Given the description of an element on the screen output the (x, y) to click on. 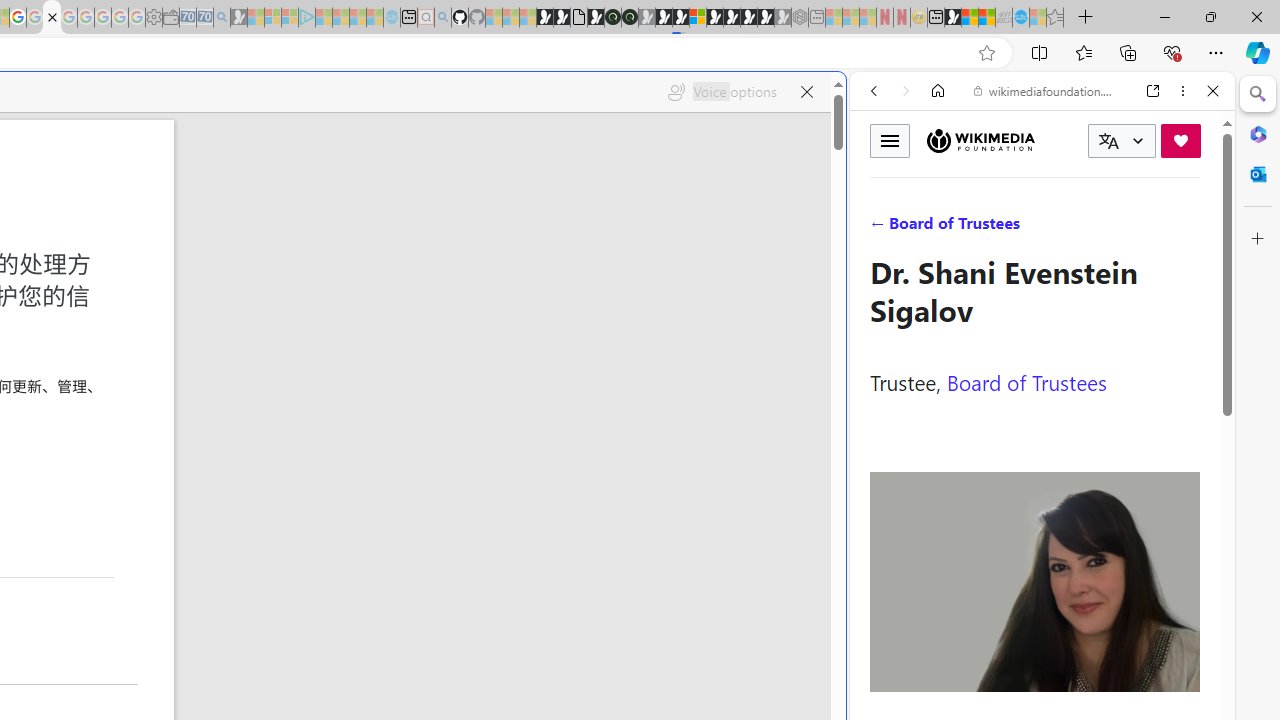
Earth has six continents not seven, radical new study claims (986, 17)
Search Filter, IMAGES (939, 228)
github - Search - Sleeping (442, 17)
Voice options (721, 92)
Add this page to favorites (Ctrl+D) (986, 53)
Settings and more (Alt+F) (1215, 52)
New tab - Sleeping (817, 17)
Bing Real Estate - Home sales and rental listings - Sleeping (221, 17)
Microsoft account | Privacy - Sleeping (289, 17)
Back (874, 91)
